Given the description of an element on the screen output the (x, y) to click on. 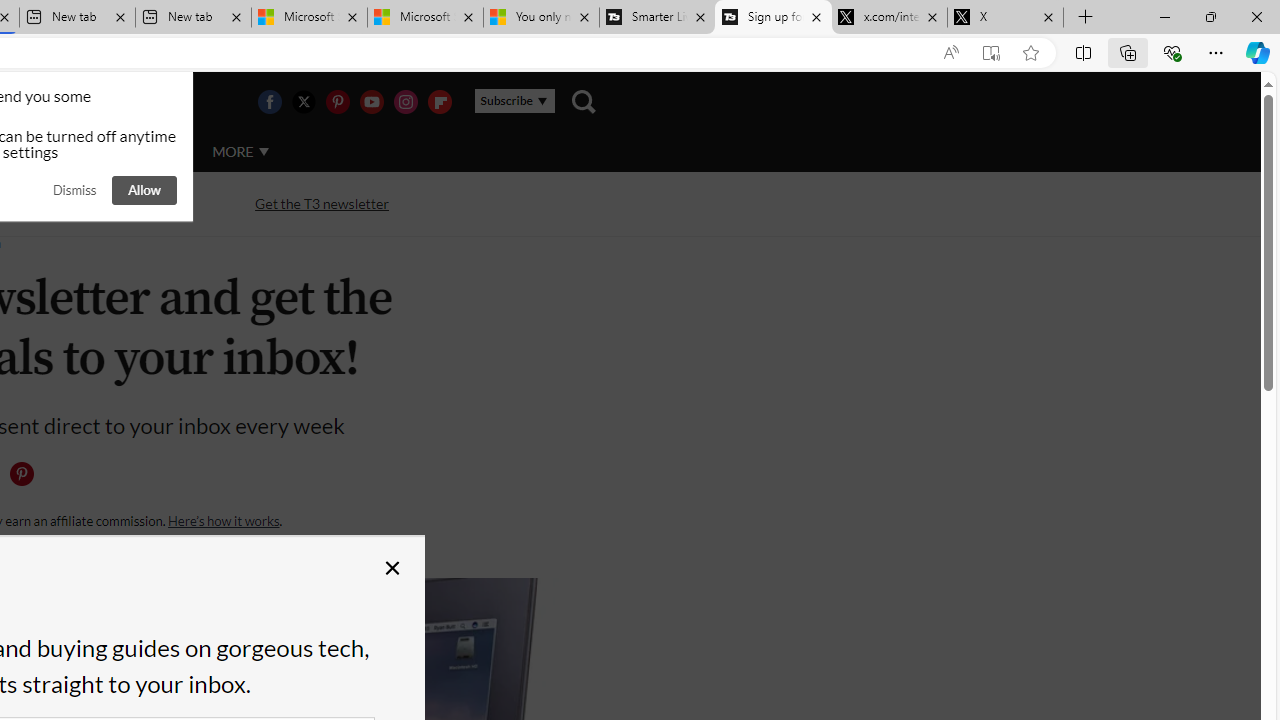
Class: icon-svg (21, 474)
MORE  (239, 151)
Visit us on Flipboard (439, 101)
Streaming TV and movies (105, 202)
Visit us on Twitter (303, 101)
Subscribe (514, 101)
Visit us on Youtube (371, 101)
Streaming TV and movies (105, 204)
LUXURY (66, 151)
